Given the description of an element on the screen output the (x, y) to click on. 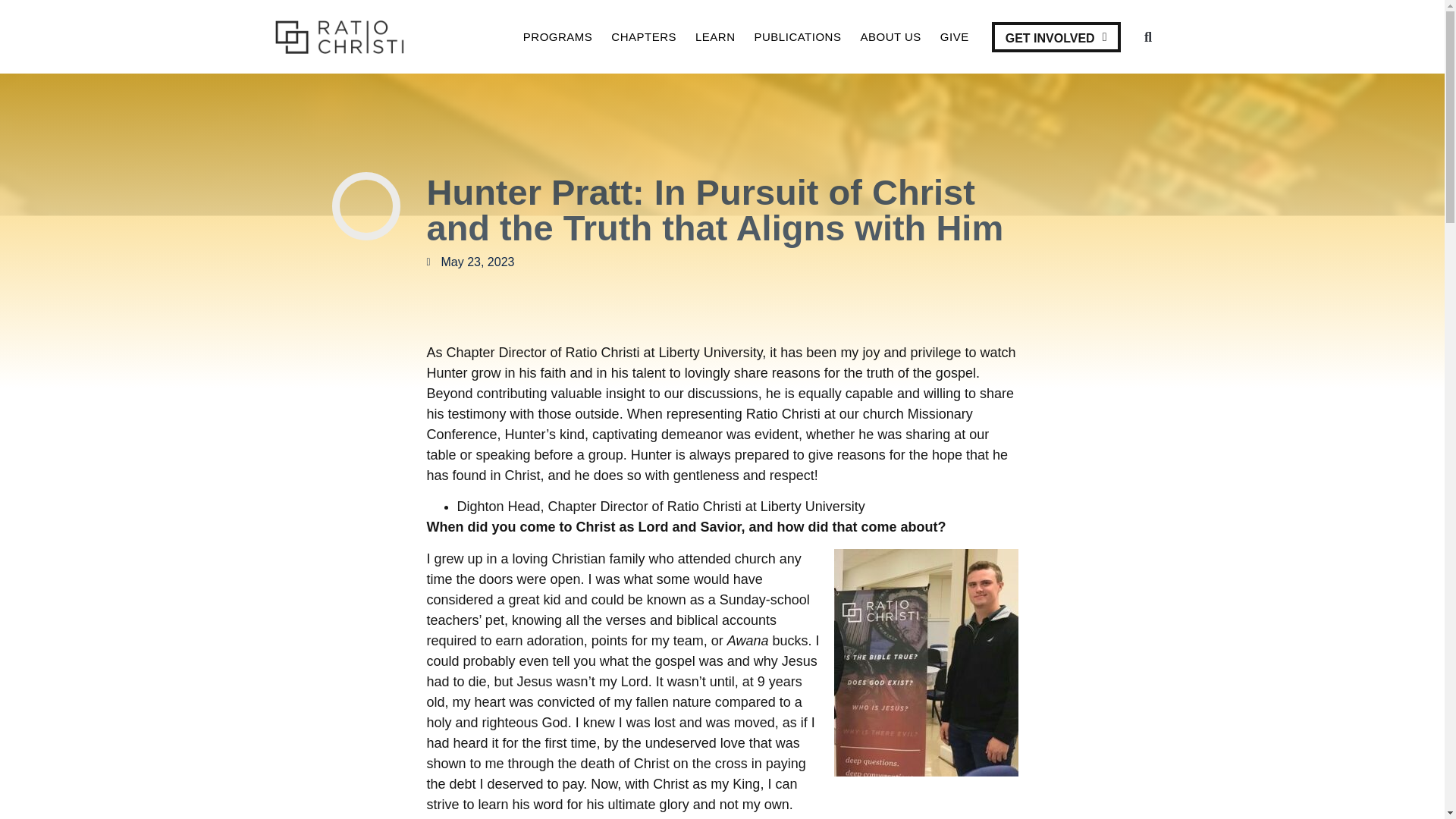
ABOUT US (890, 36)
PROGRAMS (557, 36)
LEARN (715, 36)
PUBLICATIONS (797, 36)
CHAPTERS (644, 36)
